Given the description of an element on the screen output the (x, y) to click on. 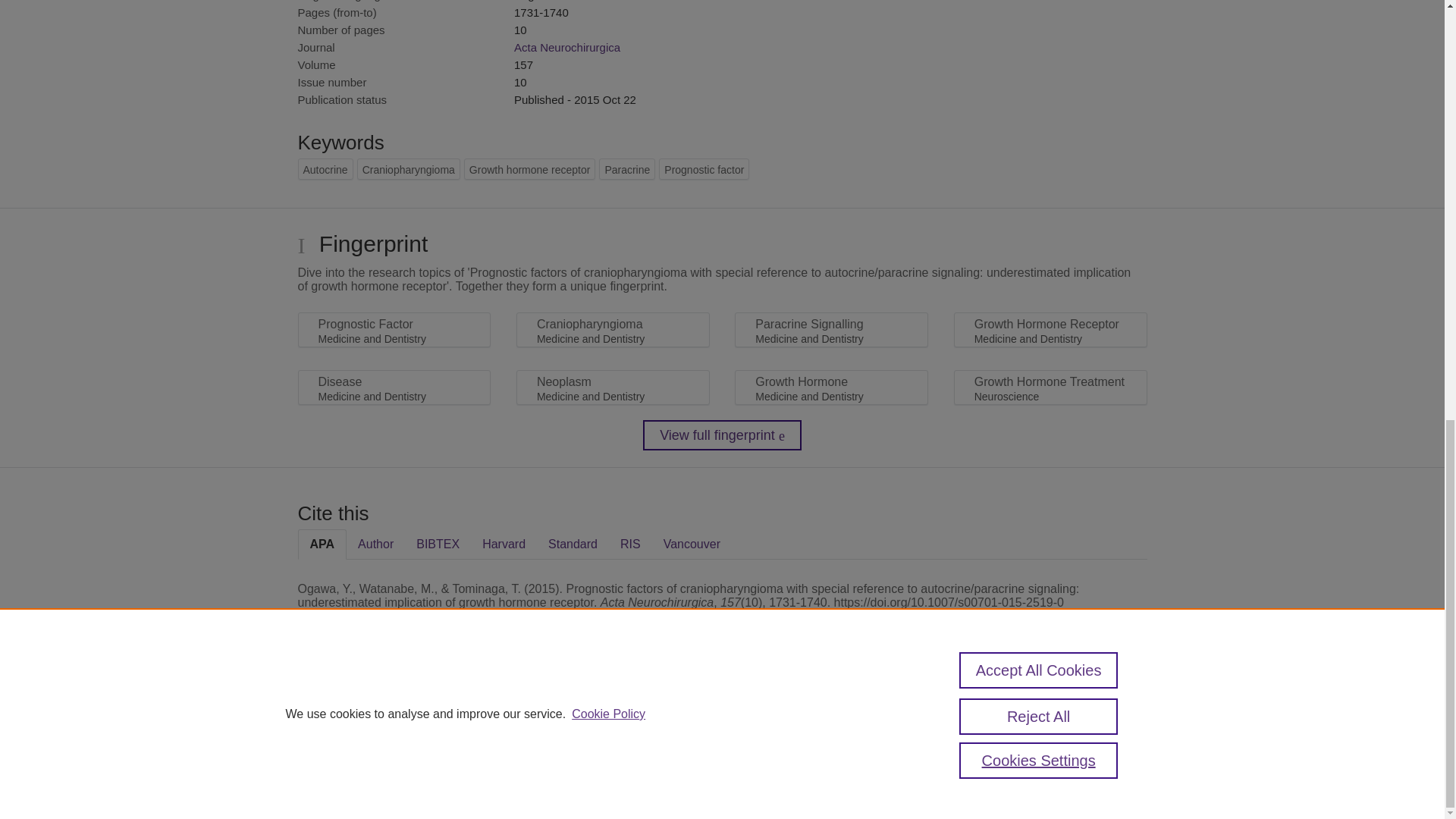
Elsevier B.V. (506, 728)
use of cookies (796, 760)
View full fingerprint (722, 435)
Scopus (394, 708)
Acta Neurochirurgica (566, 47)
Pure (362, 708)
Cookies Settings (334, 781)
